Given the description of an element on the screen output the (x, y) to click on. 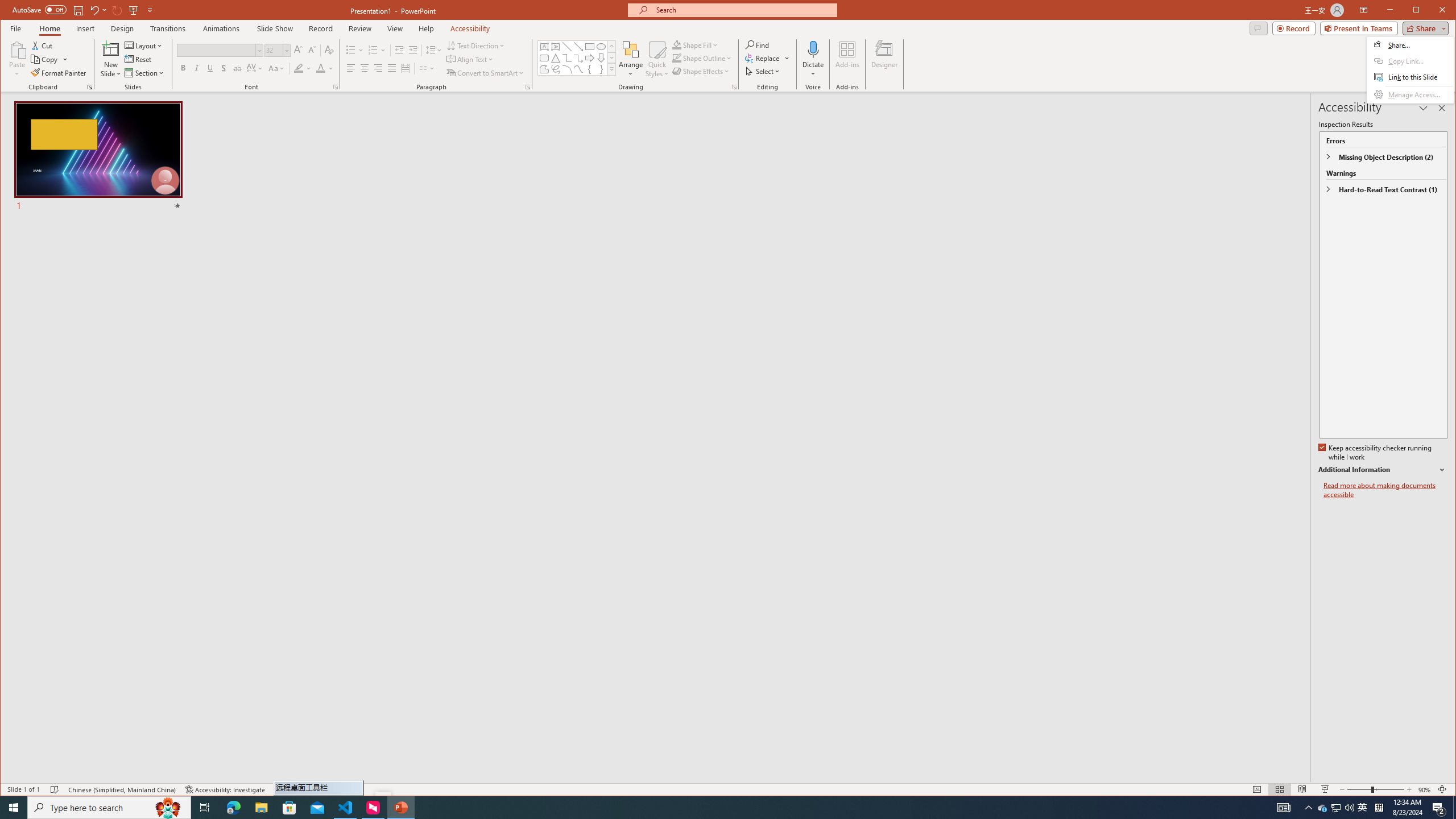
Freeform: Scribble (556, 69)
Find... (758, 44)
Line (567, 46)
Italic (196, 68)
Office Clipboard... (89, 86)
Shape Outline (1322, 807)
